Given the description of an element on the screen output the (x, y) to click on. 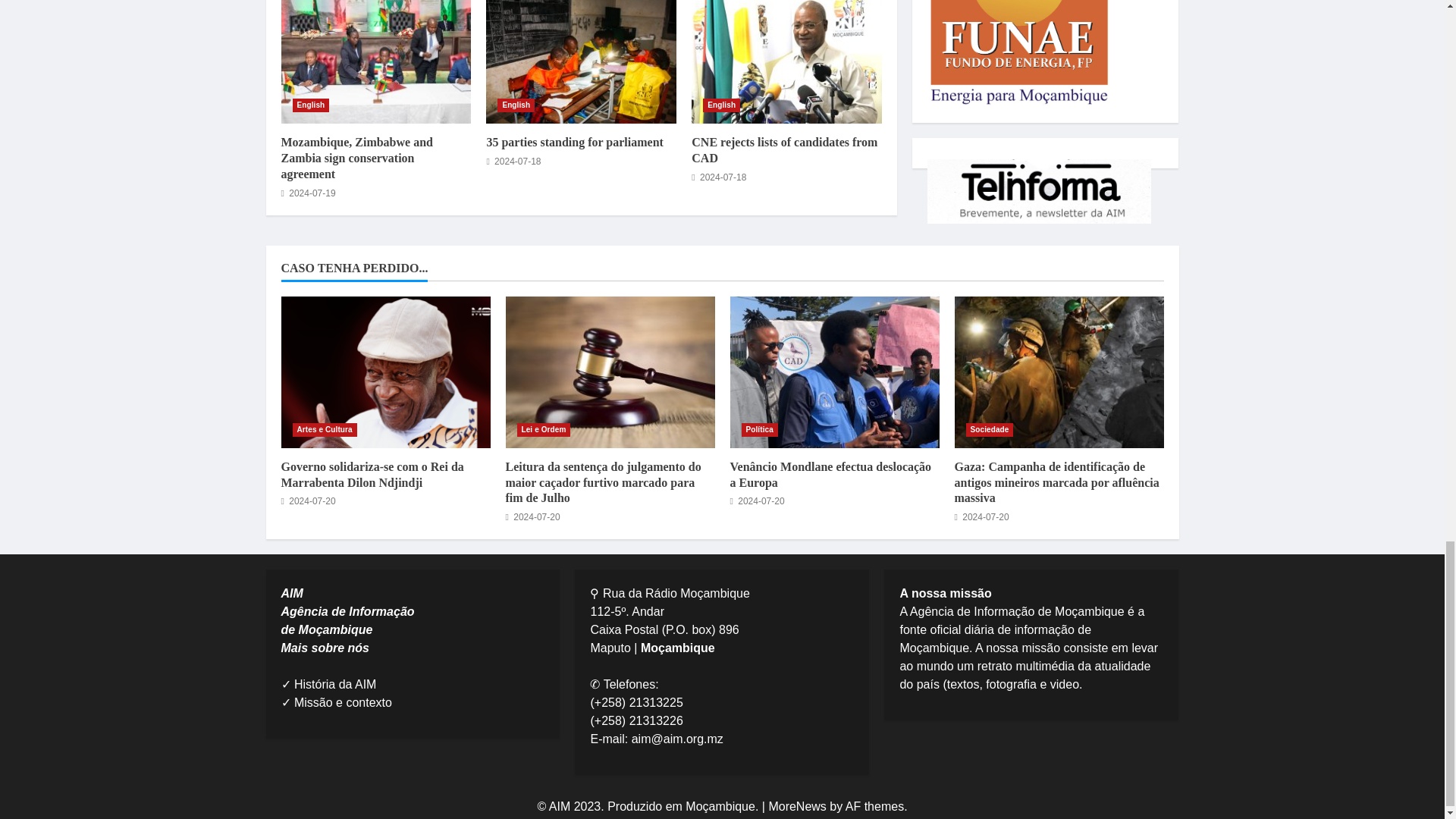
35 parties standing for parliament (574, 141)
English (311, 105)
English (721, 105)
Mozambique, Zimbabwe and Zambia sign conservation agreement (356, 157)
English (515, 105)
Artes e Cultura (324, 429)
35 parties standing for parliament (581, 61)
Mozambique, Zimbabwe and Zambia sign conservation agreement (375, 61)
Governo solidariza-se com o Rei da Marrabenta Dilon Ndjindji (385, 371)
CNE rejects lists of candidates from CAD (784, 149)
CNE rejects lists of candidates from CAD (786, 61)
